Given the description of an element on the screen output the (x, y) to click on. 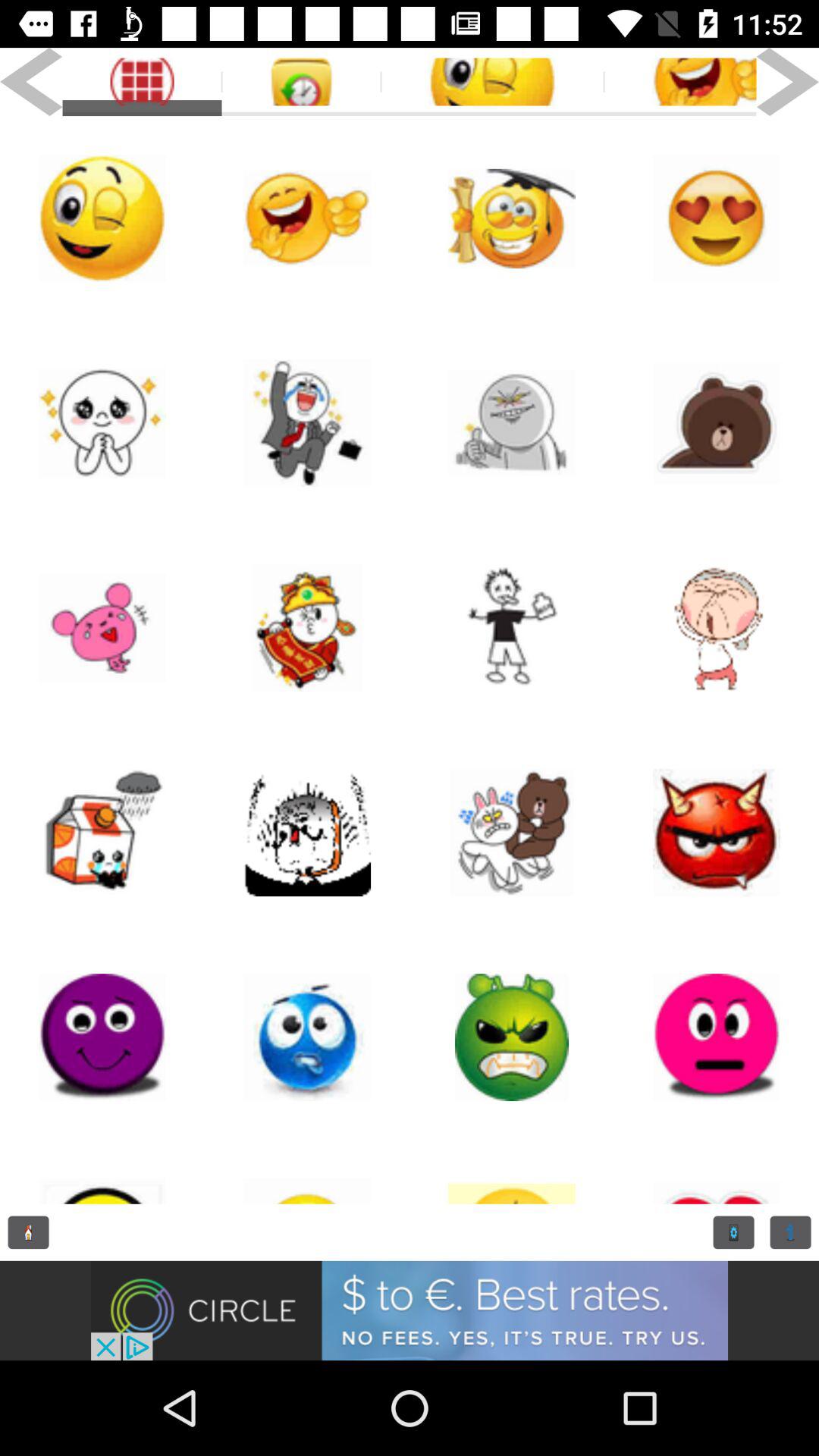
select emoji (511, 627)
